Given the description of an element on the screen output the (x, y) to click on. 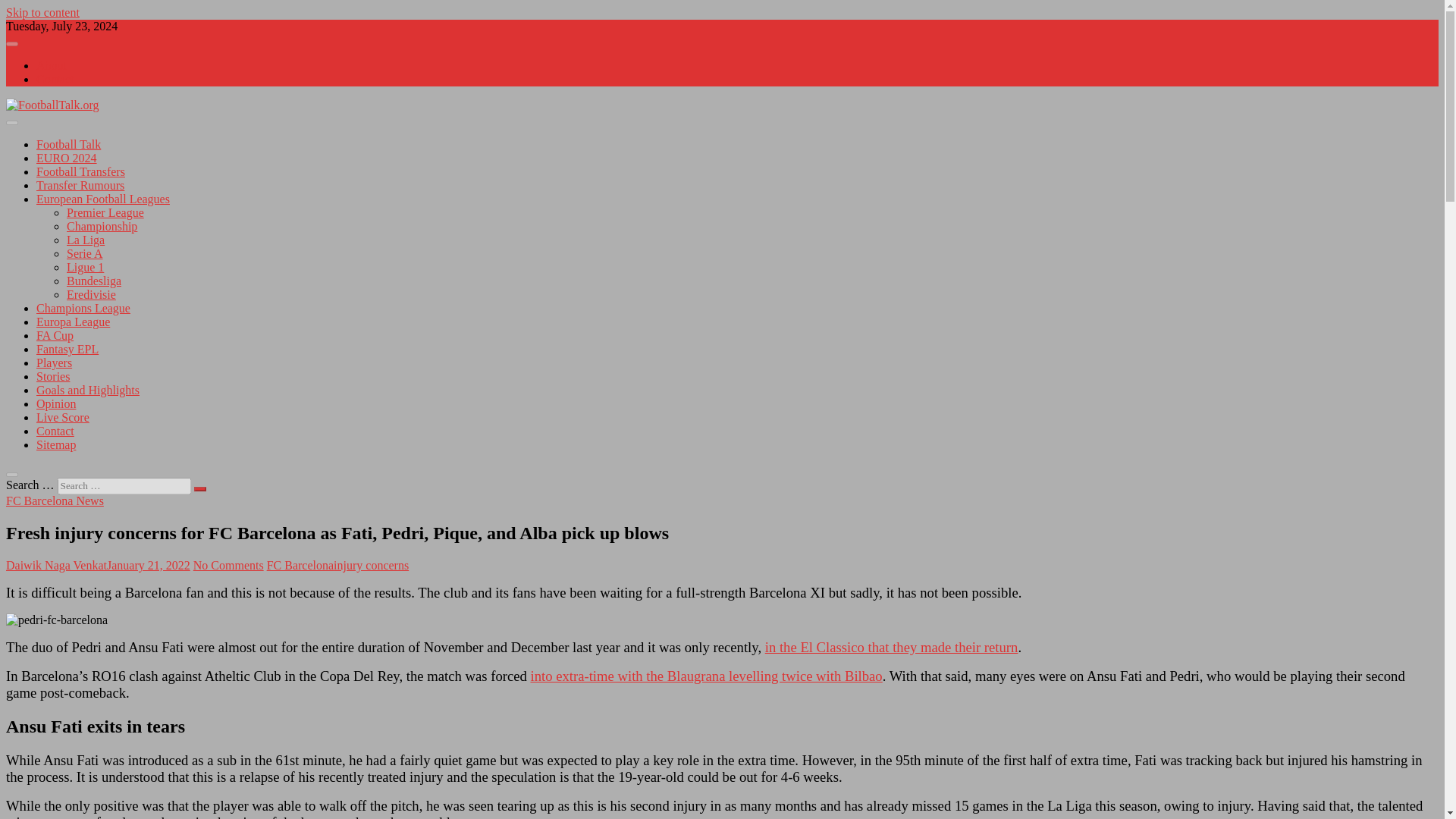
Bundesliga (93, 280)
Serie A (84, 253)
January 21, 2022 (148, 564)
January 21, 2022 (148, 564)
Eredivisie (91, 294)
About (51, 65)
Champions League (83, 308)
Goals and Highlights (87, 390)
Transfer Rumours (79, 185)
Skip to content (42, 11)
FA Cup (55, 335)
Opinion (55, 403)
Contact (55, 78)
FC Barcelona News (54, 500)
